Given the description of an element on the screen output the (x, y) to click on. 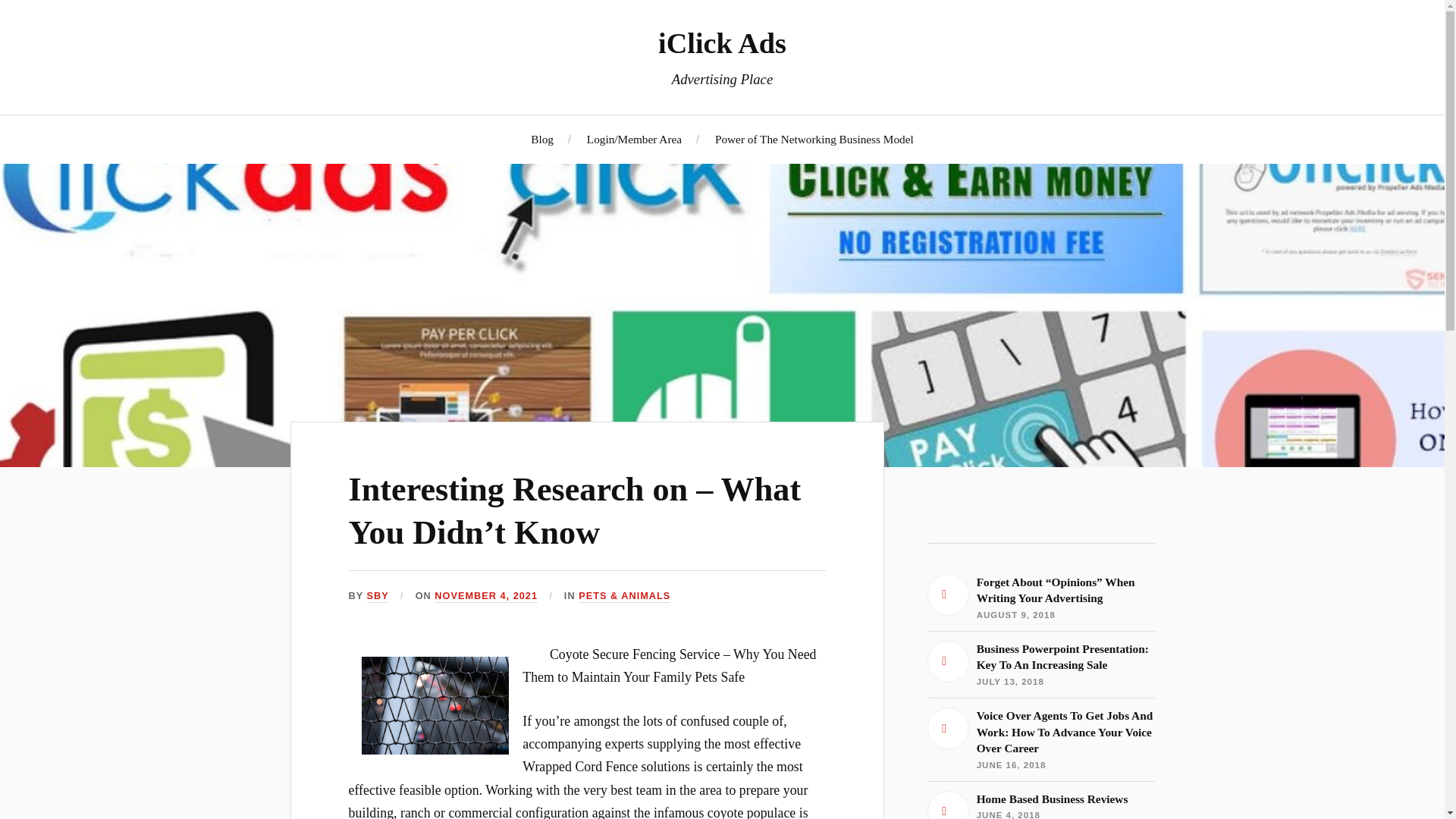
Power of The Networking Business Model (814, 138)
Posts by sby (377, 595)
Home Based Business Reviews (1040, 805)
SBY (377, 595)
Business Powerpoint Presentation: Key To An Increasing Sale (1040, 805)
NOVEMBER 4, 2021 (1040, 664)
iClick Ads (485, 595)
